Given the description of an element on the screen output the (x, y) to click on. 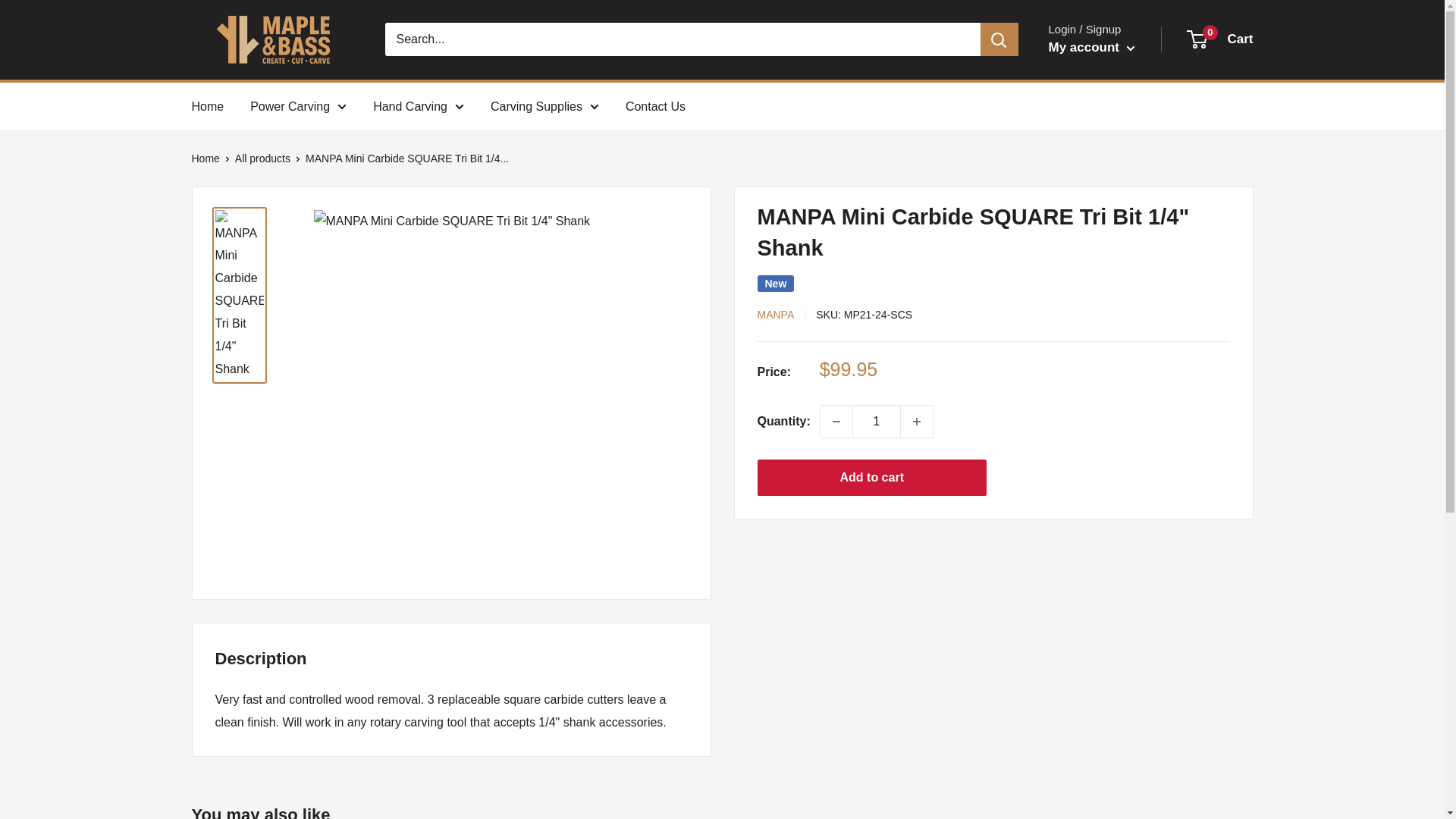
Increase quantity by 1 (917, 421)
Decrease quantity by 1 (836, 421)
1 (876, 421)
